Given the description of an element on the screen output the (x, y) to click on. 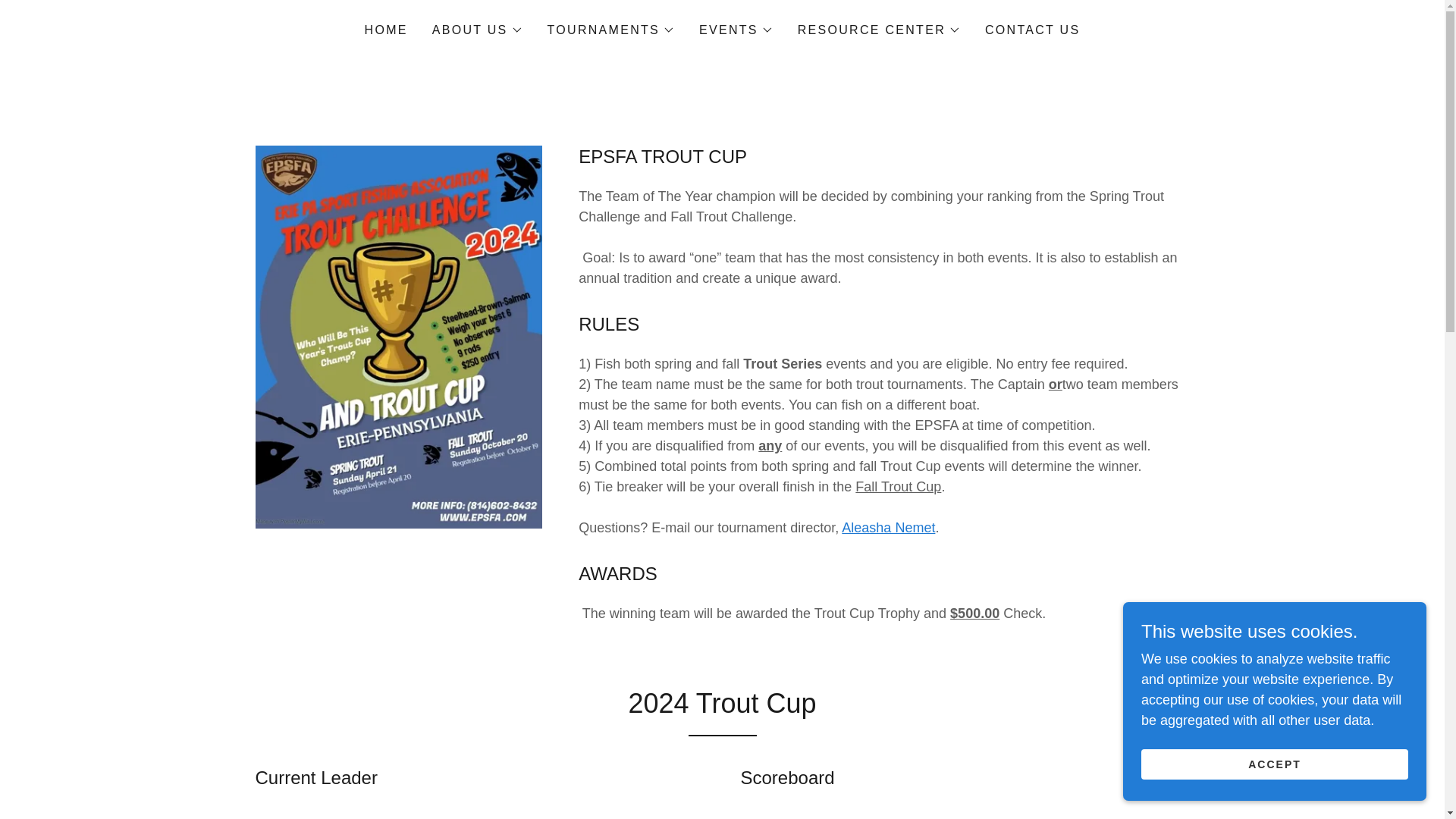
EVENTS (735, 30)
TOURNAMENTS (611, 30)
ABOUT US (477, 30)
HOME (385, 30)
RESOURCE CENTER (878, 30)
CONTACT US (1031, 30)
